Given the description of an element on the screen output the (x, y) to click on. 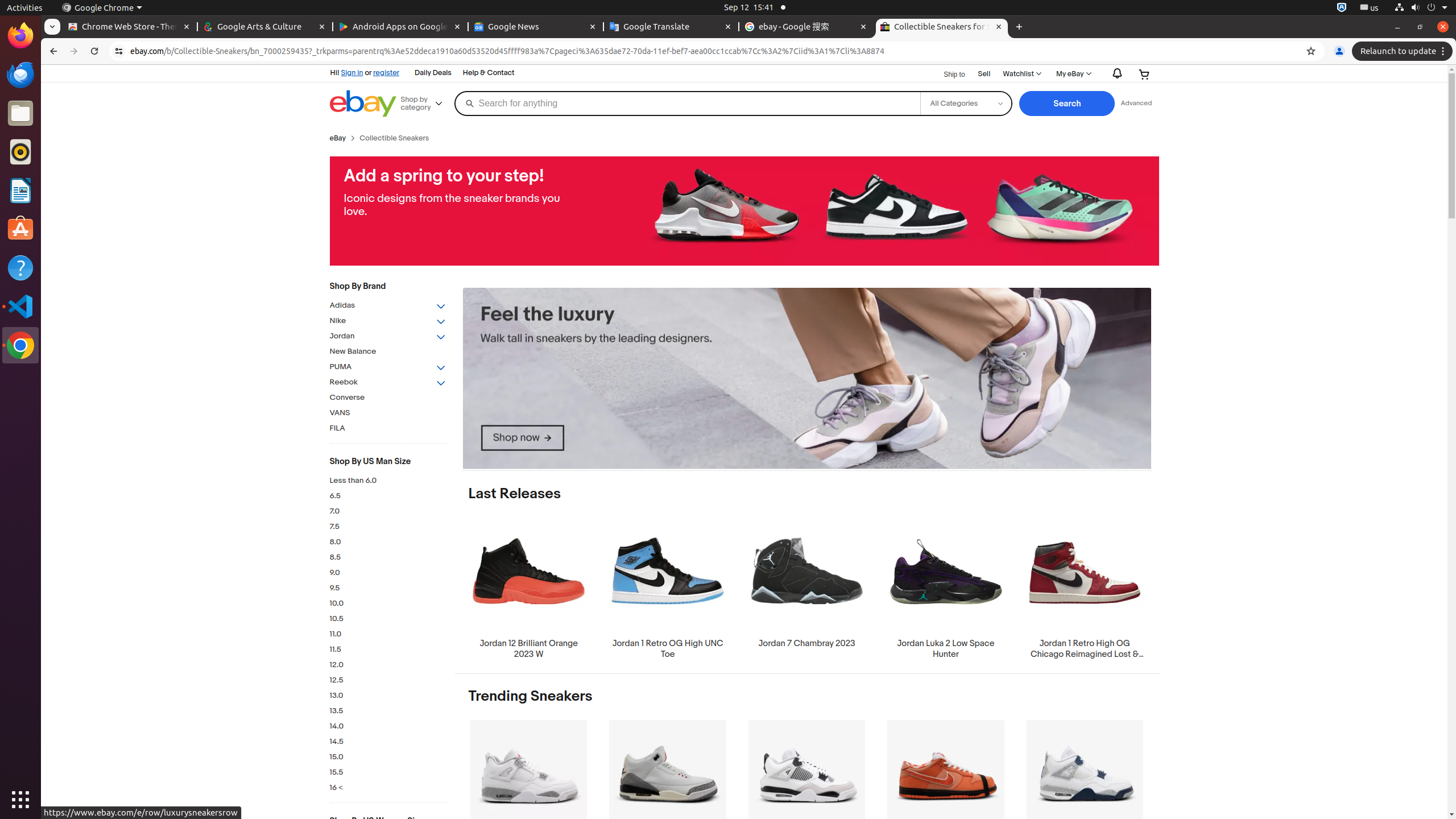
Google News - Memory usage - 49.7 MB Element type: page-tab (535, 26)
View site information Element type: push-button (118, 51)
Daily Deals Element type: link (432, 73)
Ubuntu Software Element type: push-button (20, 229)
eBay Home Element type: link (362, 103)
